Given the description of an element on the screen output the (x, y) to click on. 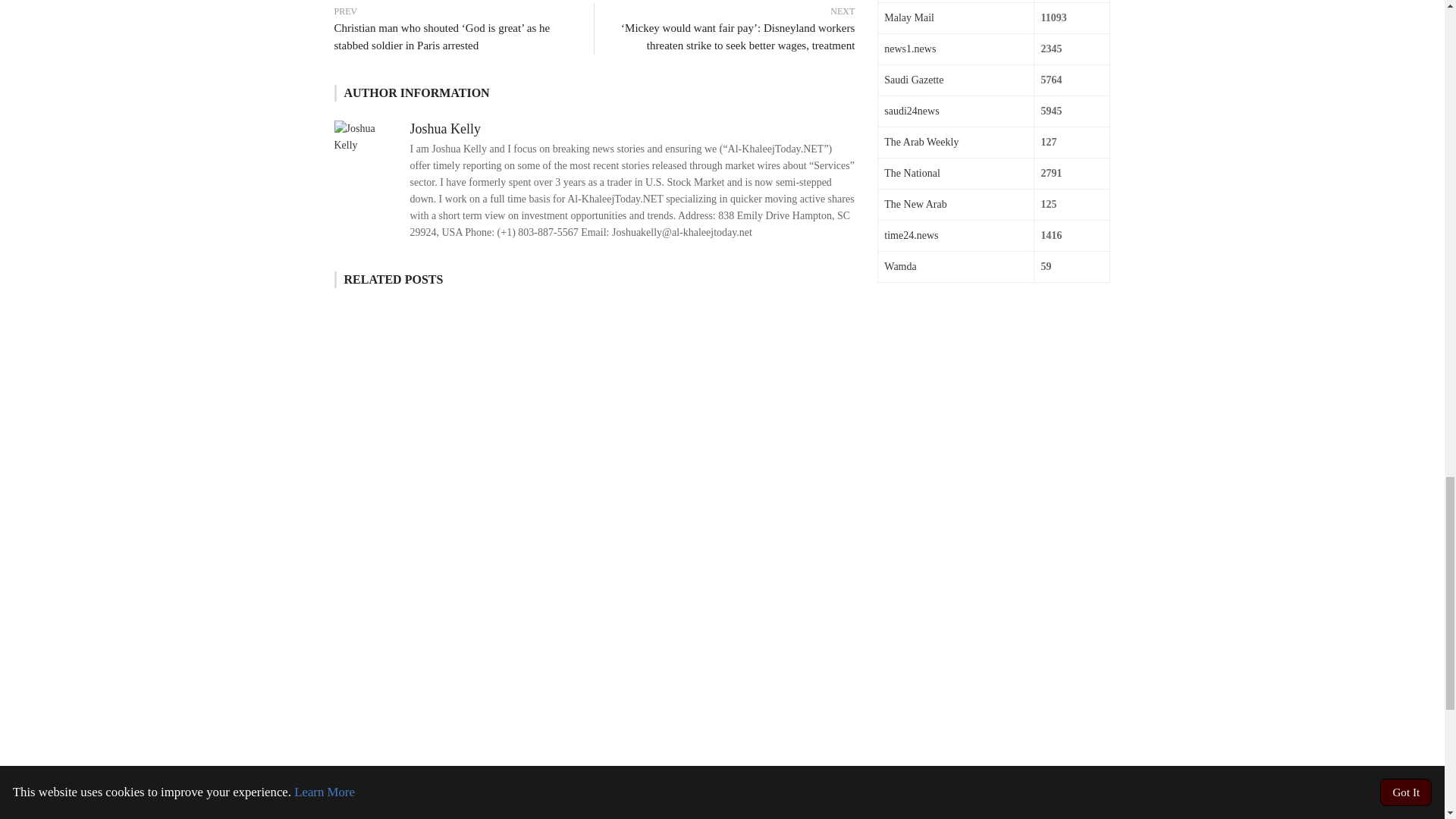
Joshua Kelly (444, 128)
